Given the description of an element on the screen output the (x, y) to click on. 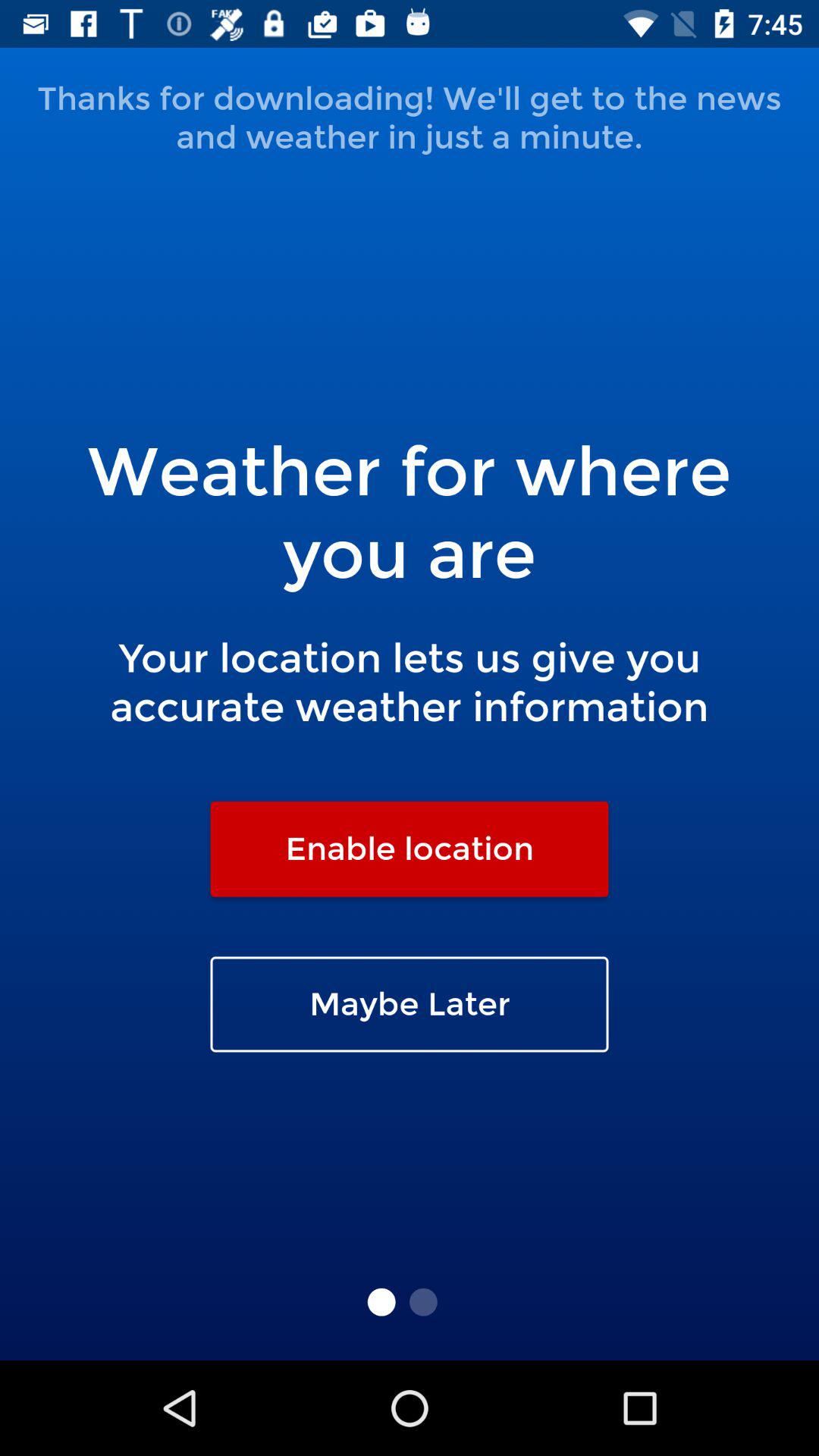
turn off item above maybe later item (409, 848)
